Given the description of an element on the screen output the (x, y) to click on. 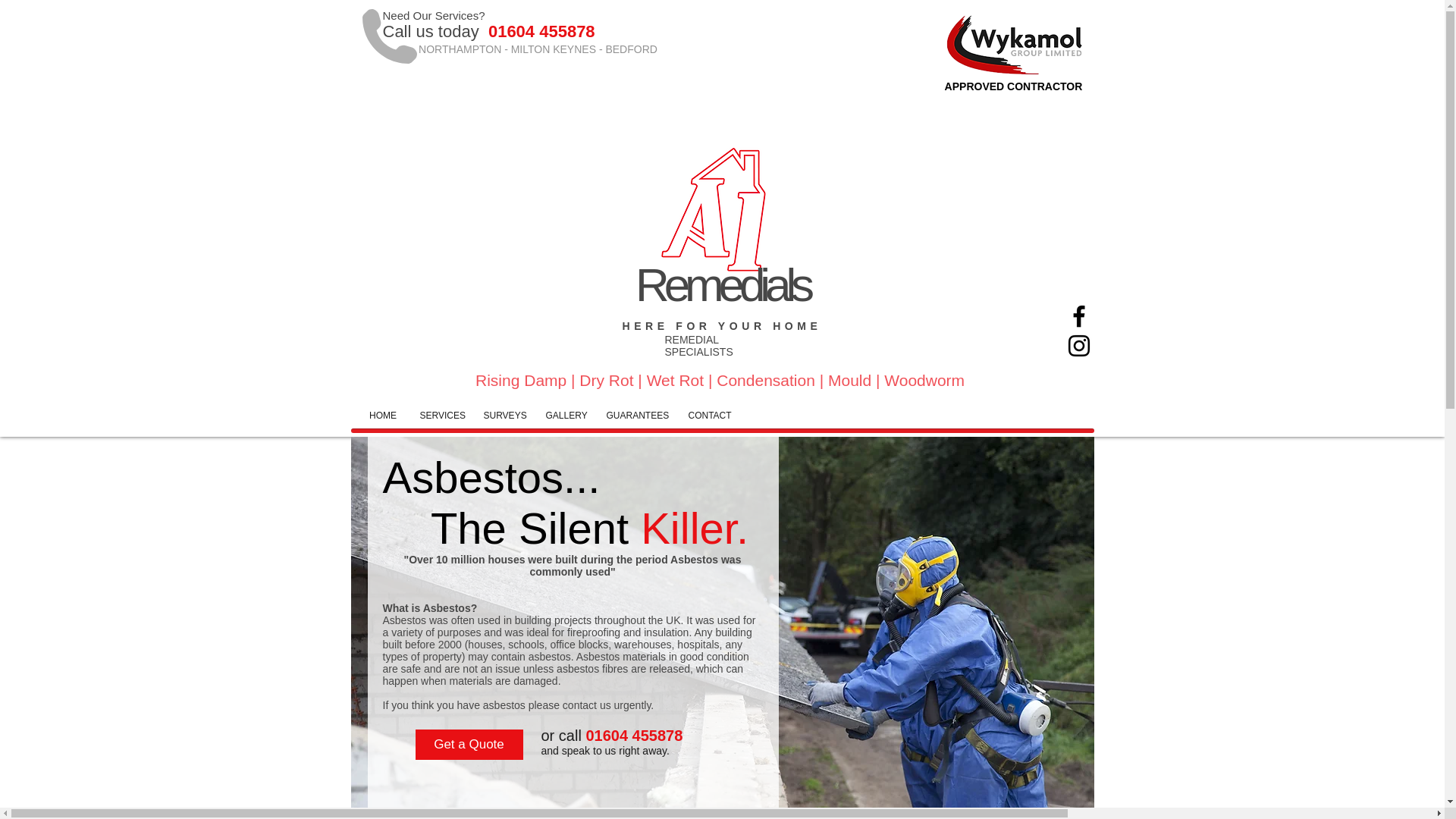
Need Our Services? (432, 15)
GUARANTEES (635, 415)
CONTACT (709, 415)
GALLERY (564, 415)
HOME (383, 415)
SERVICES (439, 415)
SURVEYS (502, 415)
Get a Quote (468, 744)
Call us today  01604 455878 (487, 31)
